Given the description of an element on the screen output the (x, y) to click on. 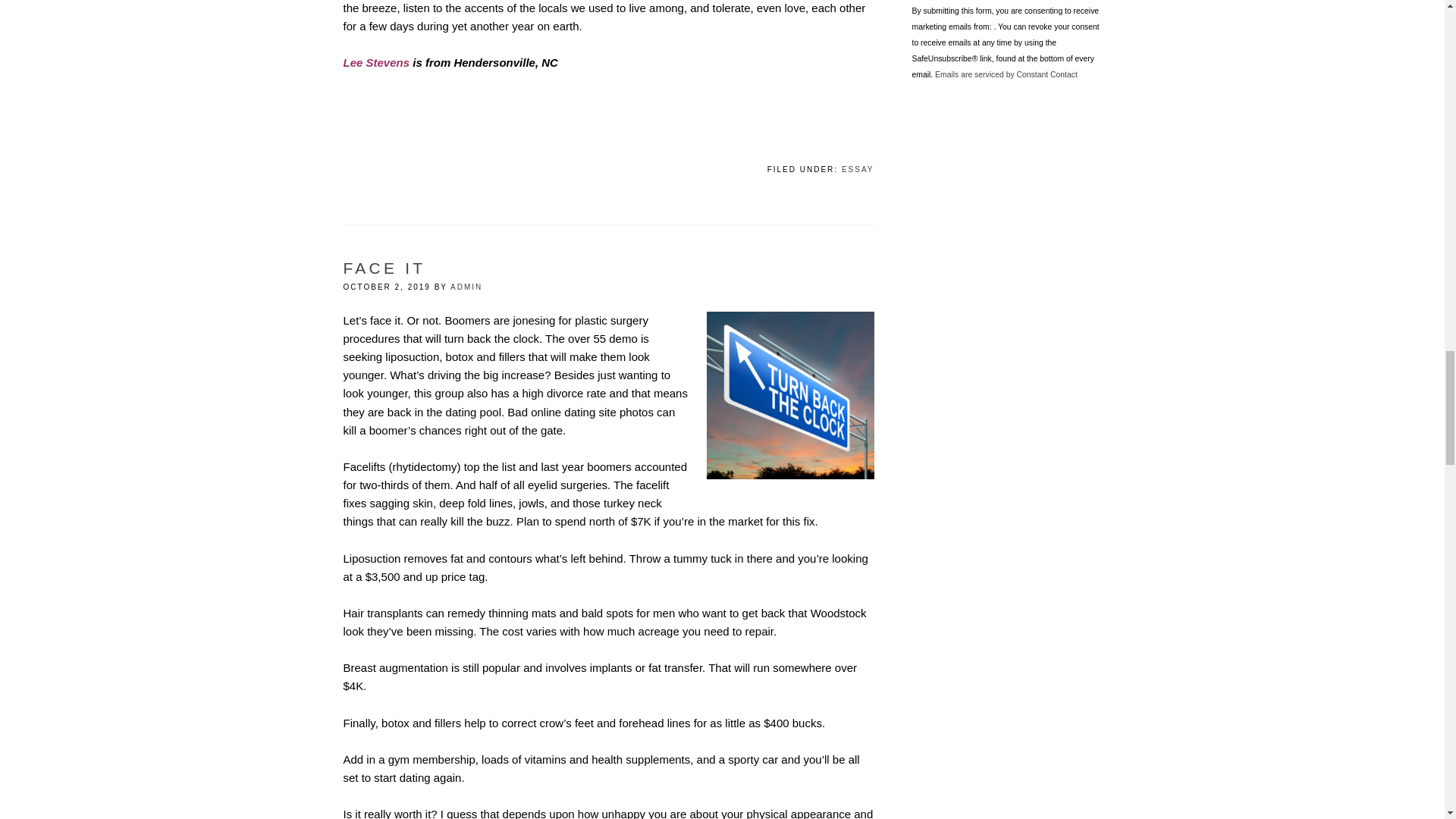
FACE IT (383, 267)
ADMIN (465, 286)
ESSAY (858, 169)
